Given the description of an element on the screen output the (x, y) to click on. 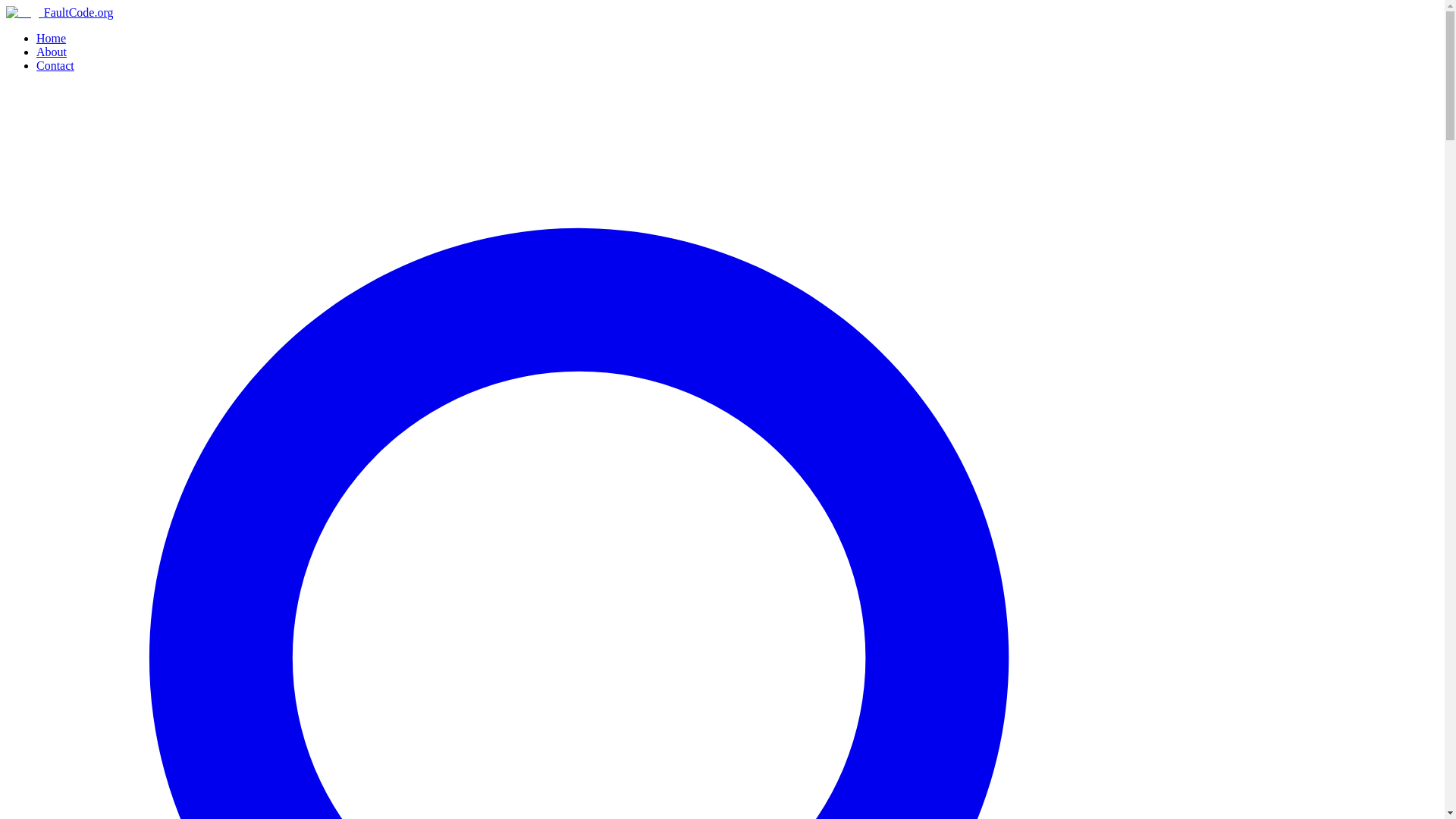
Contact (55, 65)
Home (50, 38)
FaultCode.org (59, 11)
About (51, 51)
